Given the description of an element on the screen output the (x, y) to click on. 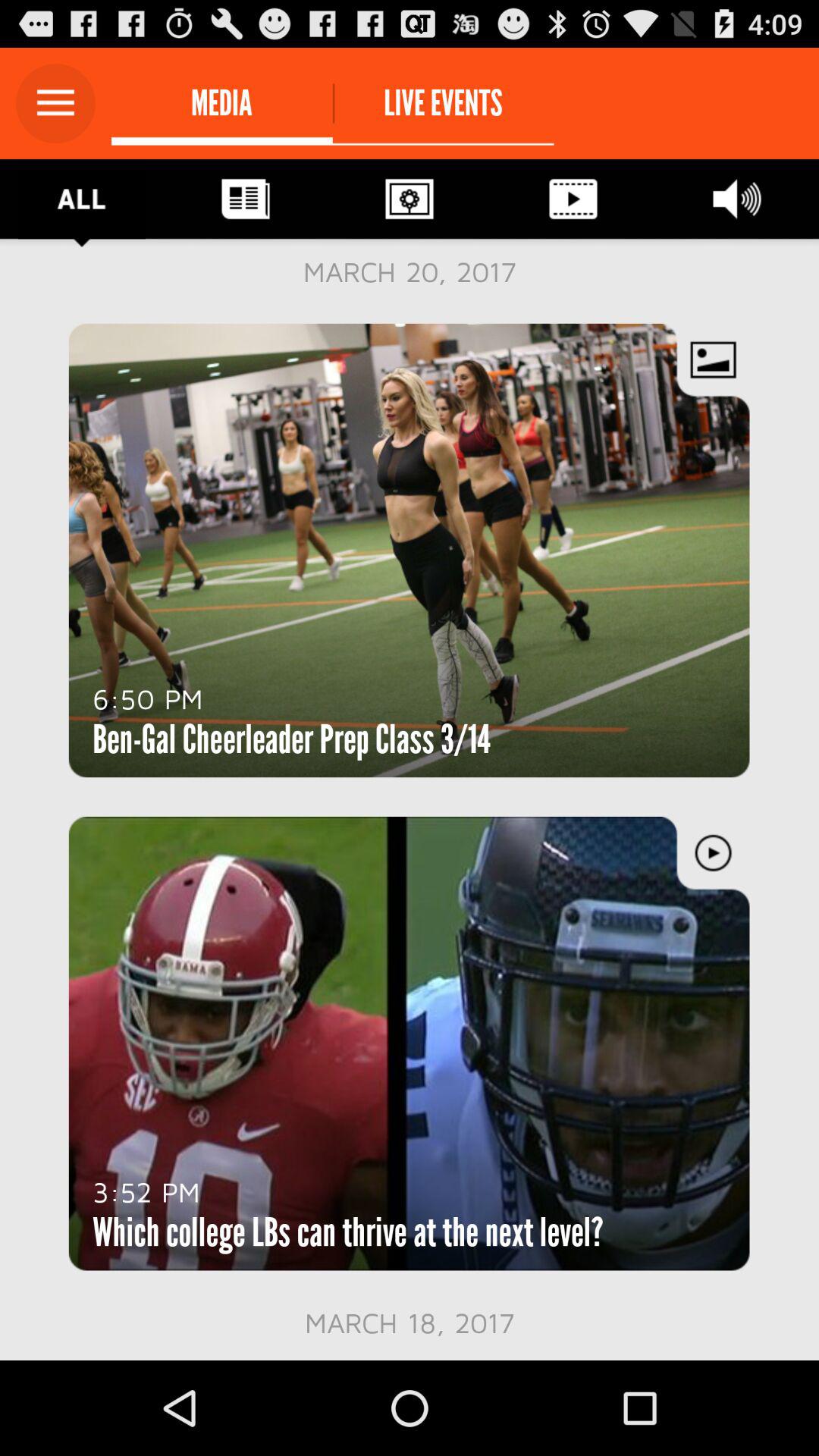
press the icon on the left (147, 698)
